Given the description of an element on the screen output the (x, y) to click on. 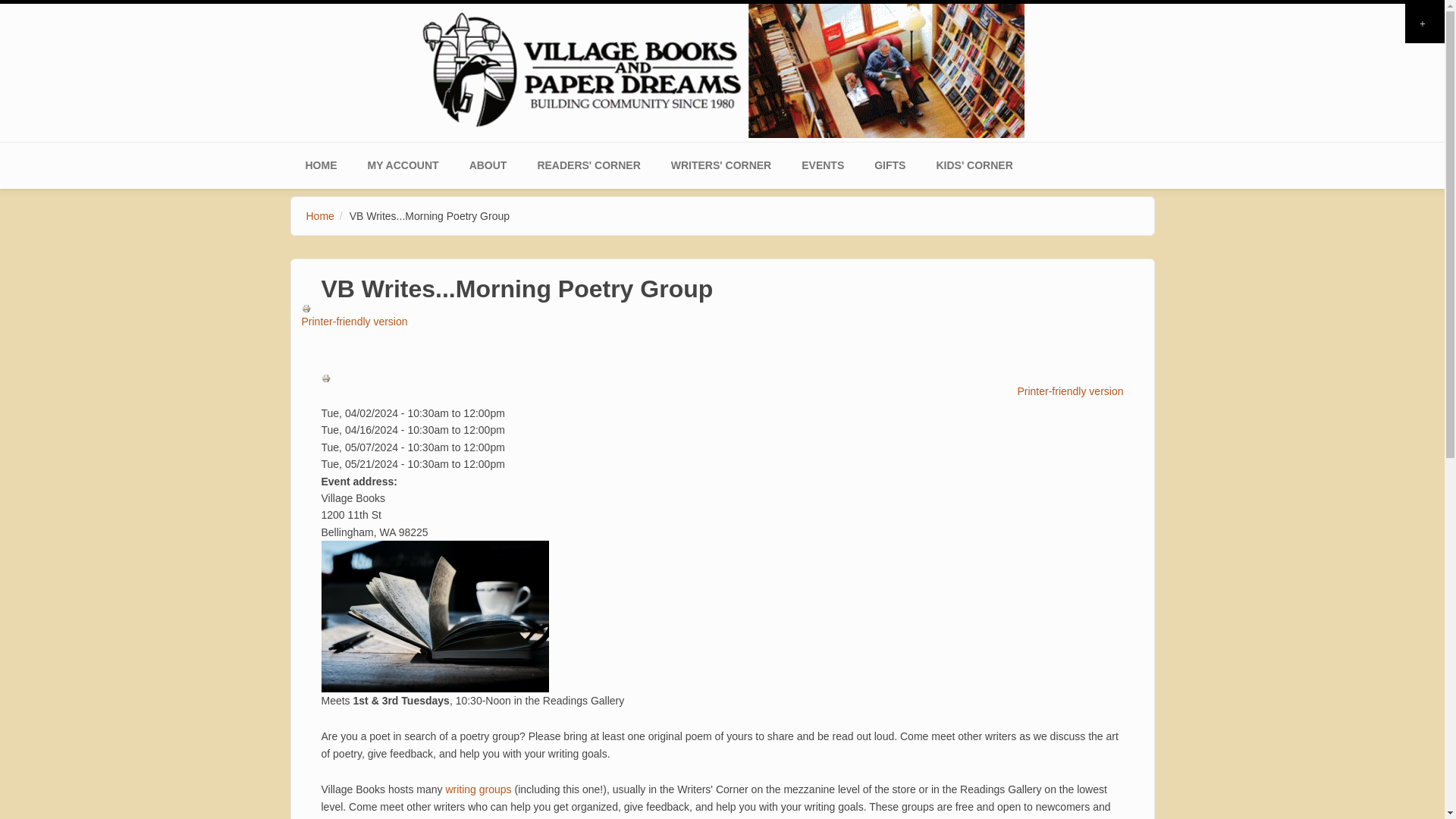
Printer-friendly version (307, 307)
ABOUT (488, 165)
Home (319, 215)
Display a printer-friendly version of this page. (722, 392)
Home (721, 68)
GIFTS (889, 165)
KIDS' CORNER (973, 165)
writing groups (478, 788)
MY ACCOUNT (402, 165)
Printer-friendly version (727, 315)
Printer-friendly version (327, 378)
Printer-friendly version (722, 392)
READERS' CORNER (588, 165)
Display a printer-friendly version of this page. (727, 315)
WRITERS' CORNER (721, 165)
